Given the description of an element on the screen output the (x, y) to click on. 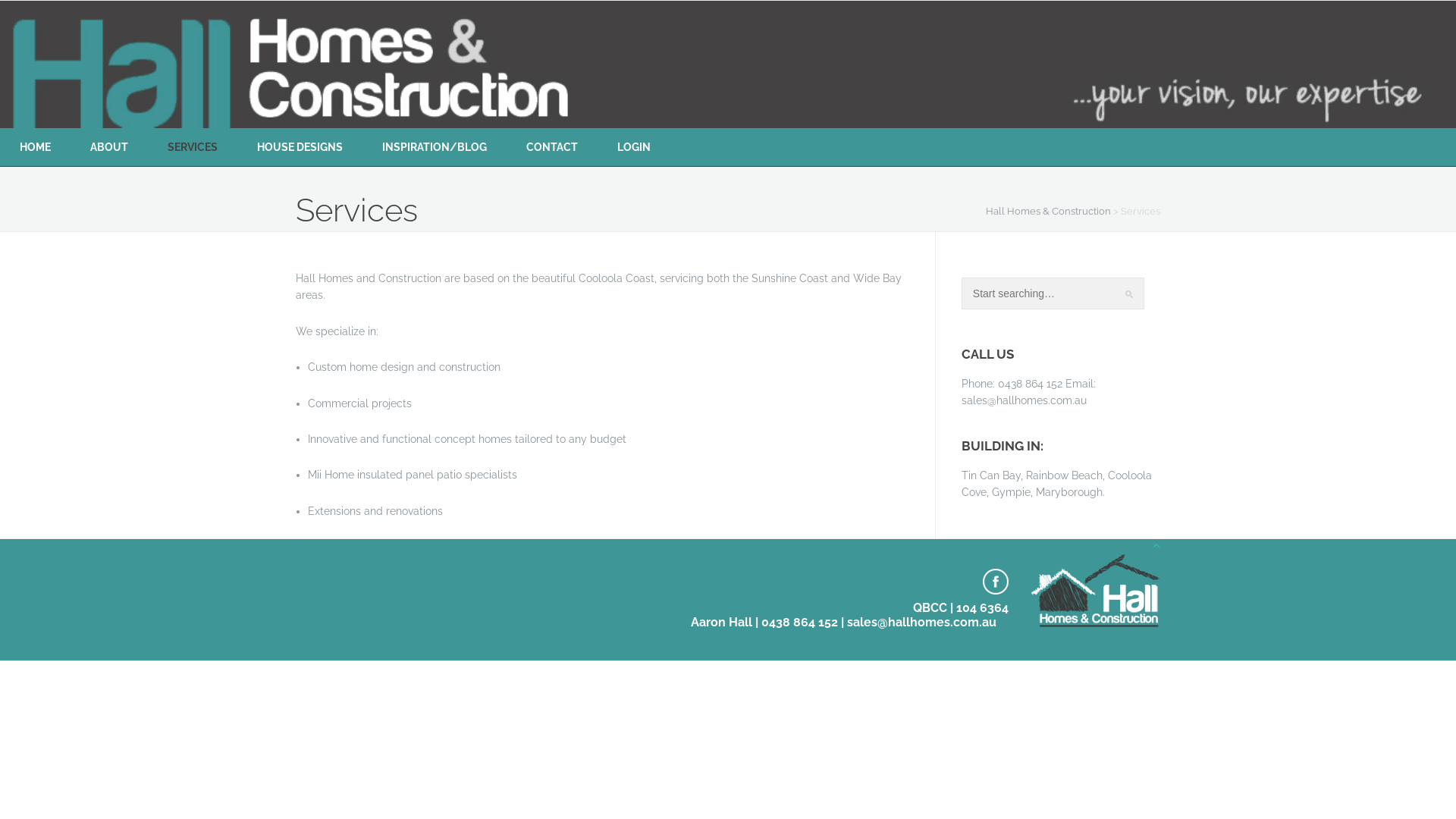
HOME Element type: text (35, 147)
Hall Homes & Construction Element type: text (1047, 210)
CONTACT Element type: text (551, 147)
HOUSE DESIGNS Element type: text (299, 147)
Search Element type: text (22, 8)
SERVICES Element type: text (192, 147)
INSPIRATION/BLOG Element type: text (434, 147)
LOGIN Element type: text (633, 147)
facebook Element type: hover (995, 581)
ABOUT Element type: text (108, 147)
